Given the description of an element on the screen output the (x, y) to click on. 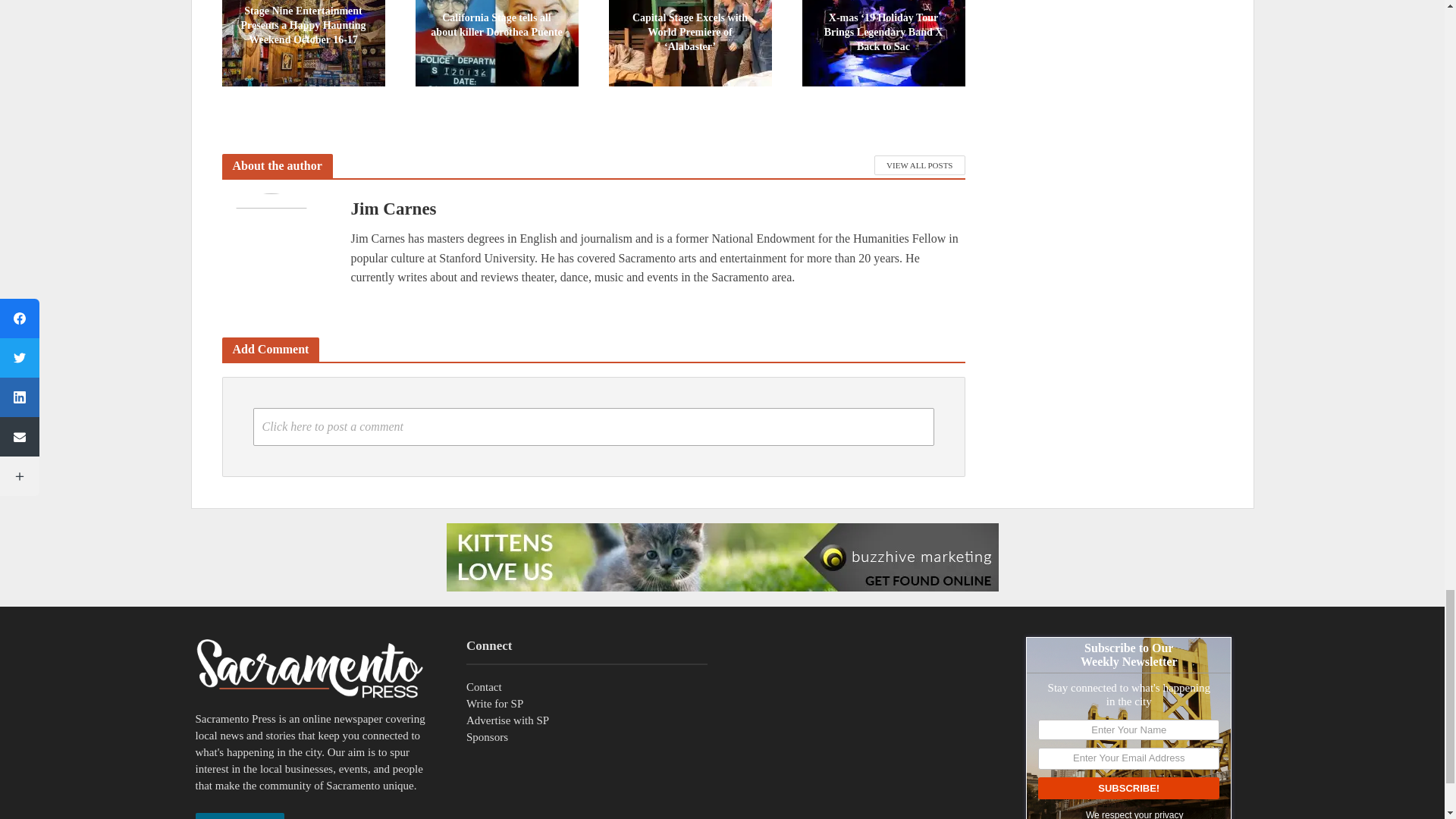
California Stage tells all about killer Dorothea Puente (496, 23)
